Given the description of an element on the screen output the (x, y) to click on. 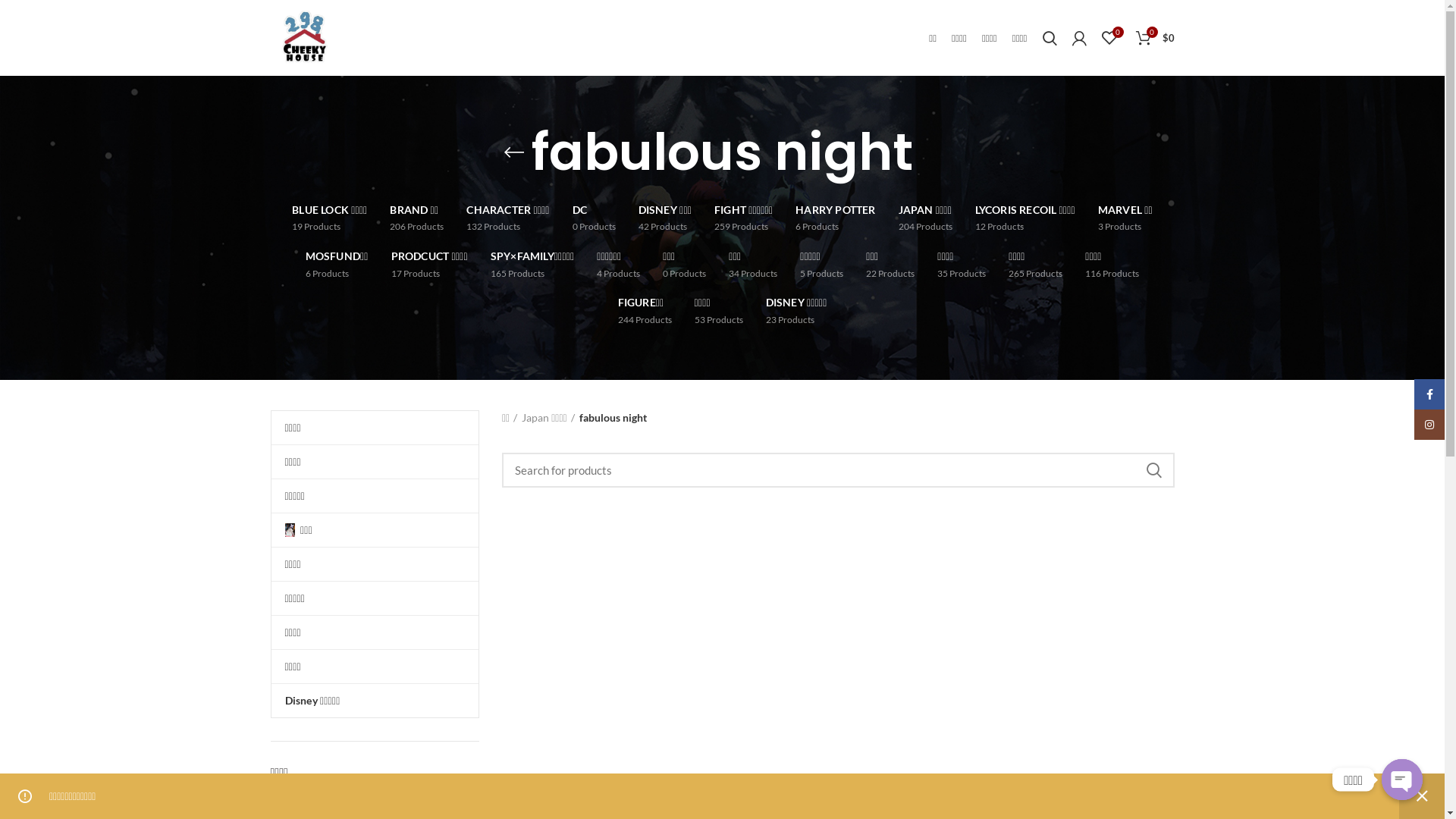
DC
0 Products Element type: text (594, 217)
SEARCH Element type: text (1153, 469)
0
$0 Element type: text (1155, 37)
HARRY POTTER
6 Products Element type: text (835, 217)
Search Element type: hover (1048, 37)
0 Element type: text (1108, 37)
